Given the description of an element on the screen output the (x, y) to click on. 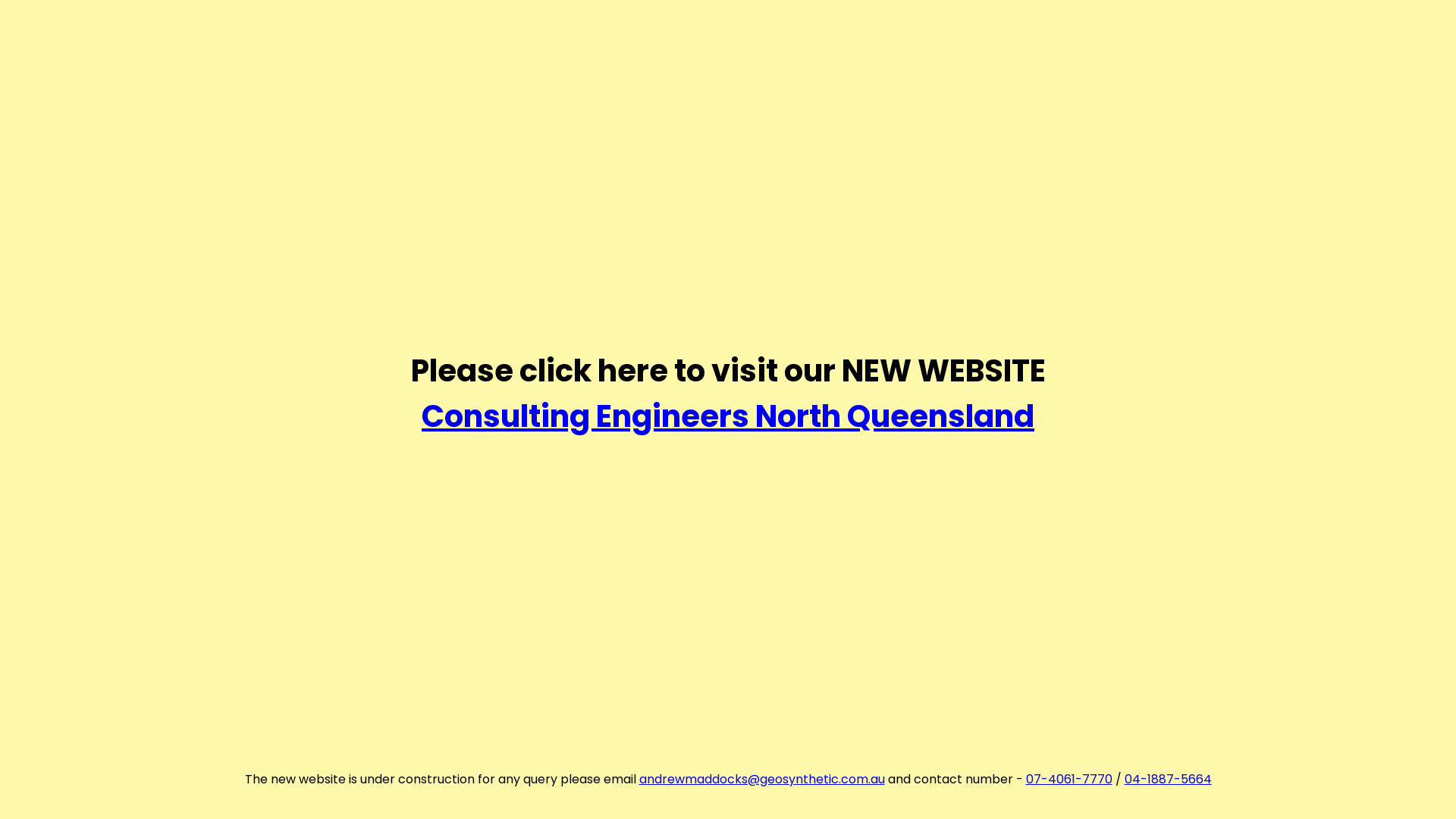
Consulting Engineers North Queensland Element type: text (727, 416)
07-4061-7770 Element type: text (1068, 778)
04-1887-5664 Element type: text (1167, 778)
andrewmaddocks@geosynthetic.com.au Element type: text (761, 778)
